Given the description of an element on the screen output the (x, y) to click on. 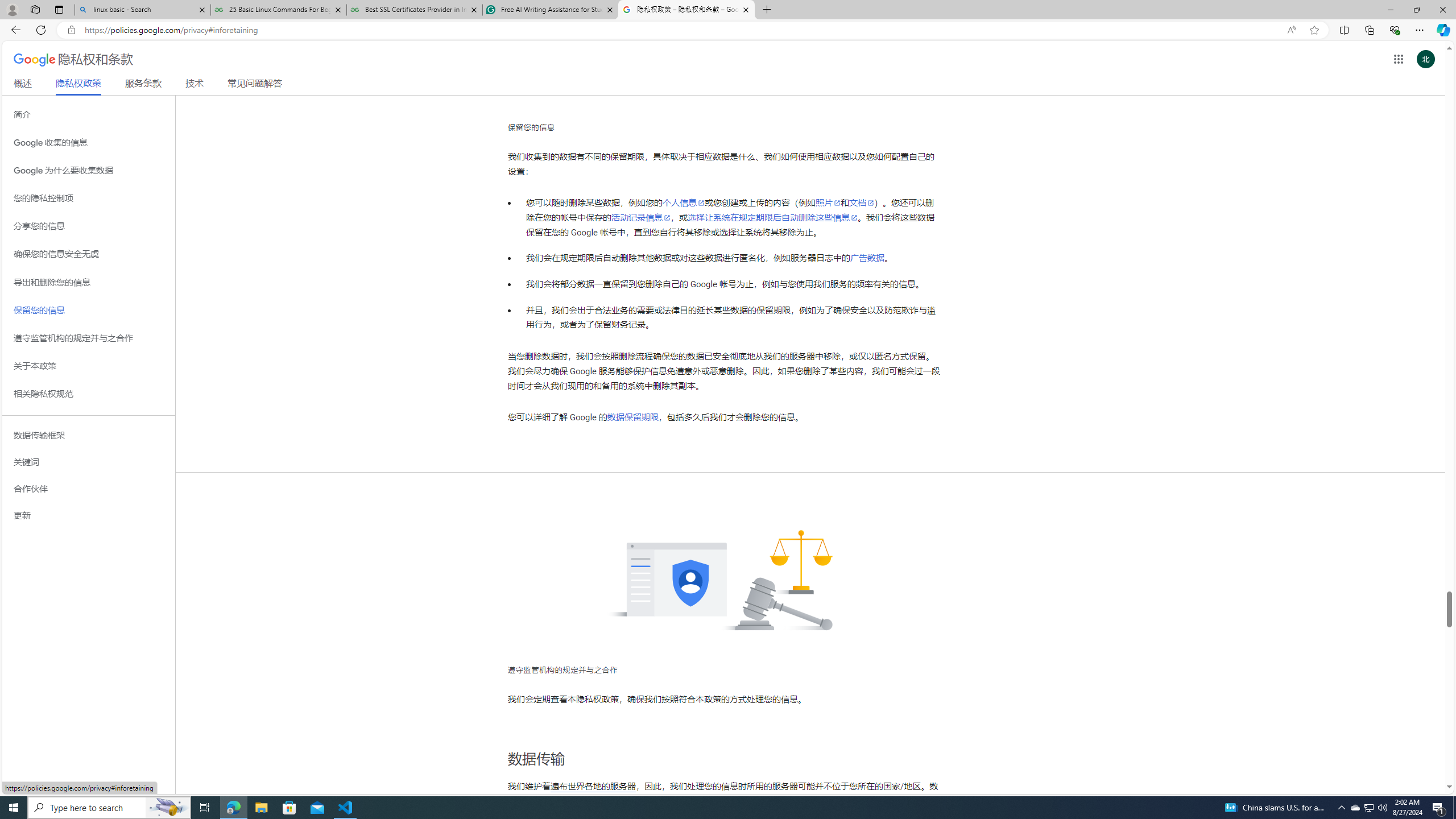
linux basic - Search (142, 9)
